Given the description of an element on the screen output the (x, y) to click on. 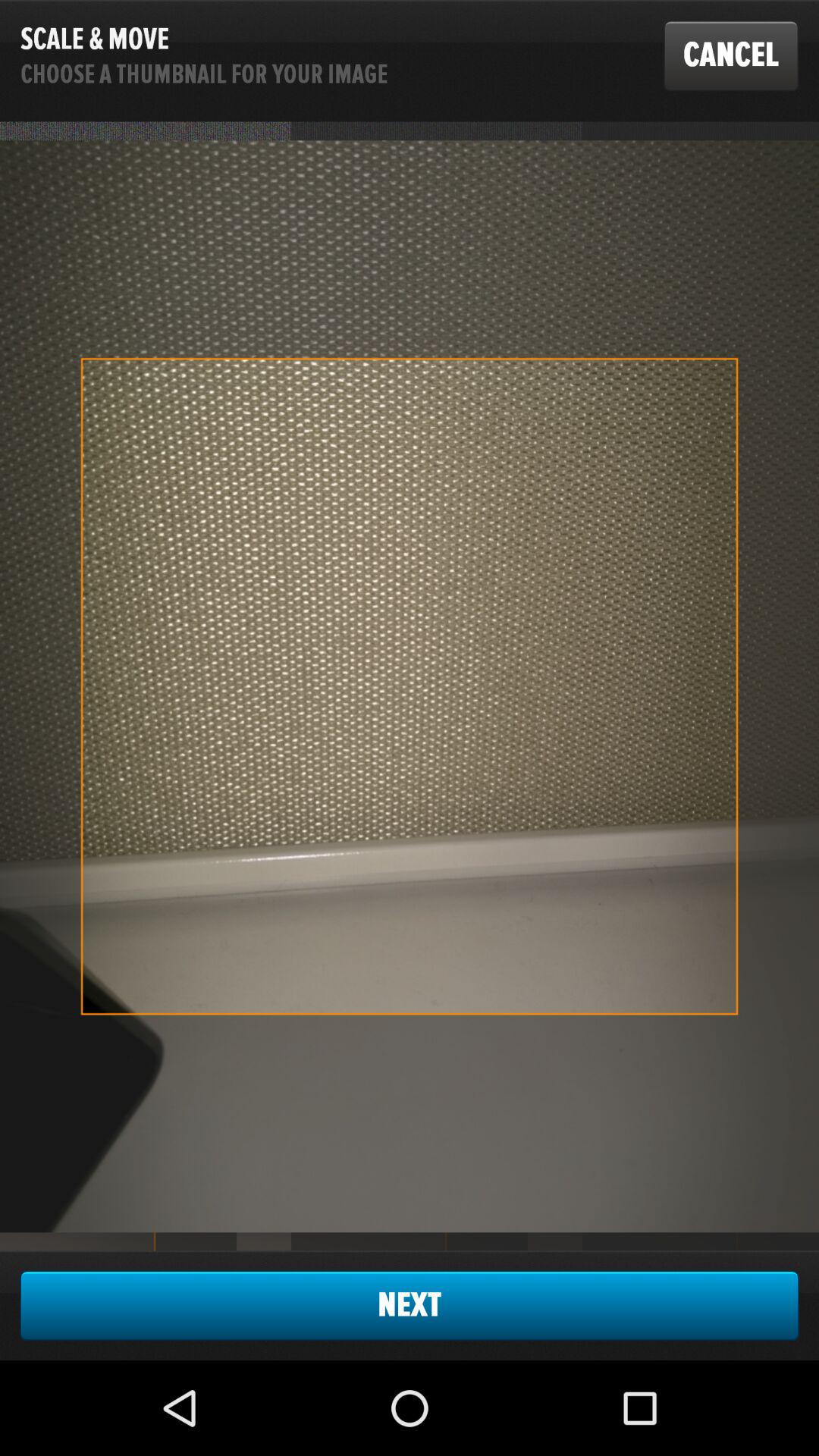
scroll until cancel icon (730, 55)
